Given the description of an element on the screen output the (x, y) to click on. 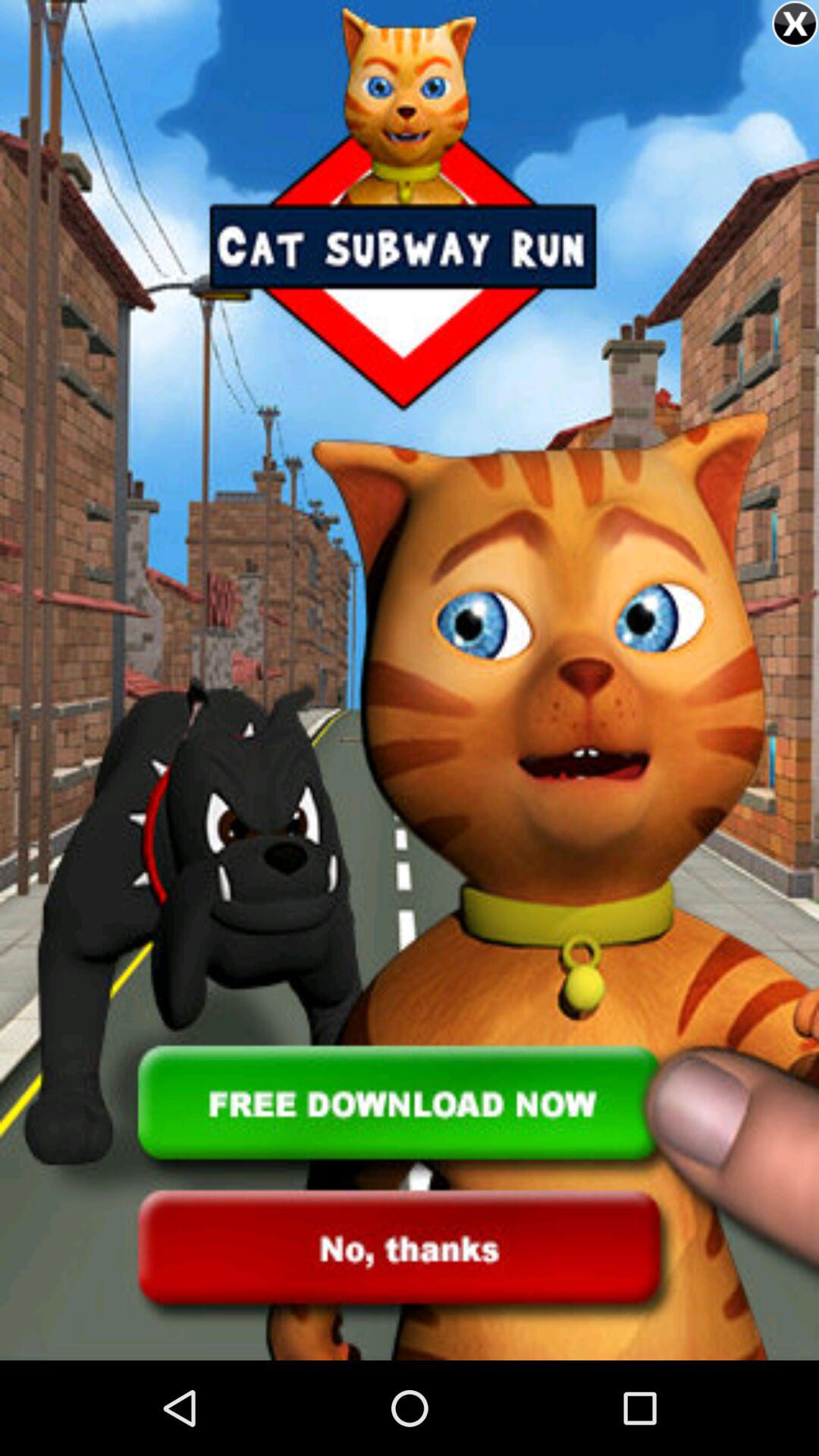
go to close (795, 23)
